Given the description of an element on the screen output the (x, y) to click on. 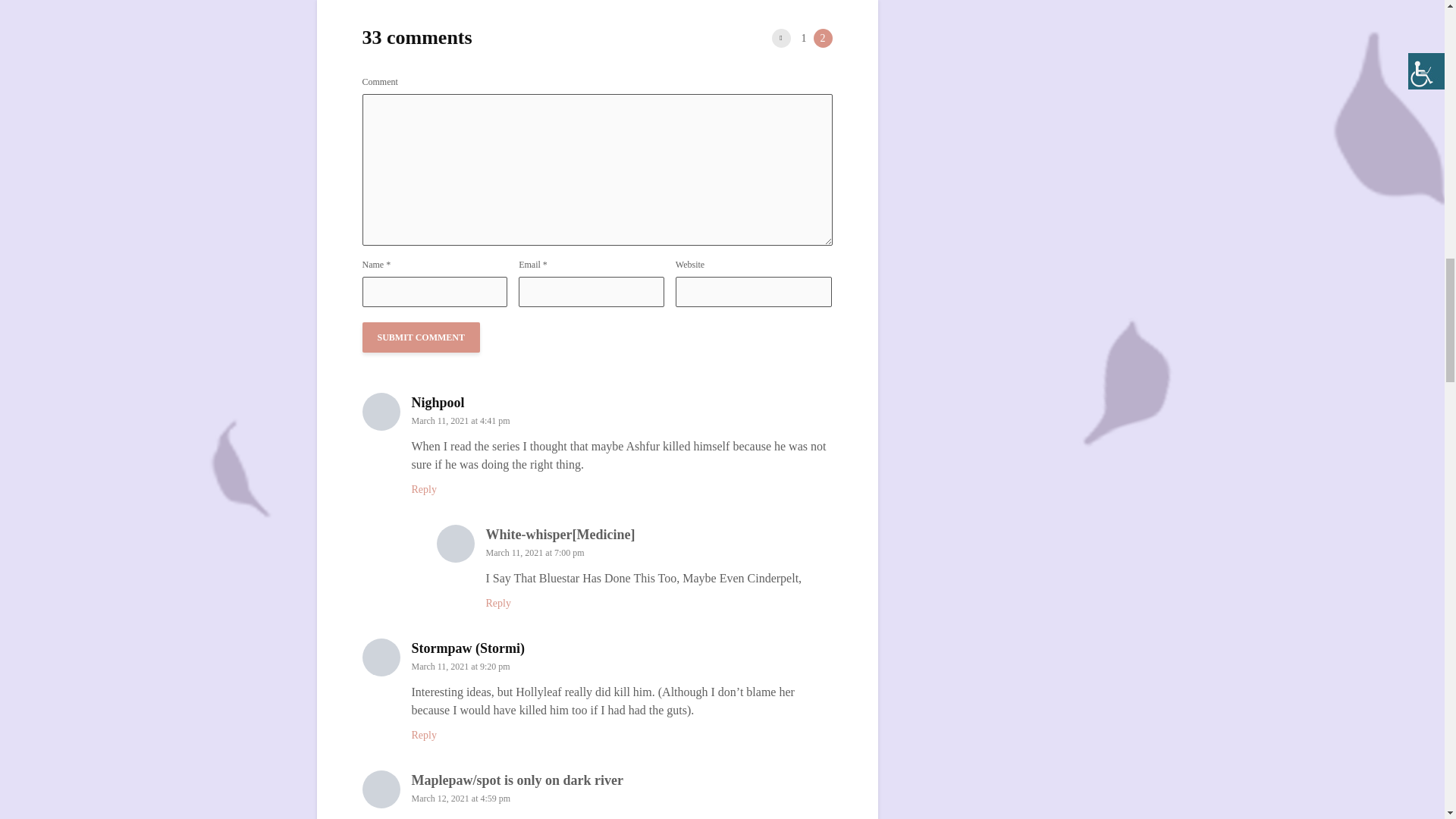
Submit Comment (421, 337)
